Given the description of an element on the screen output the (x, y) to click on. 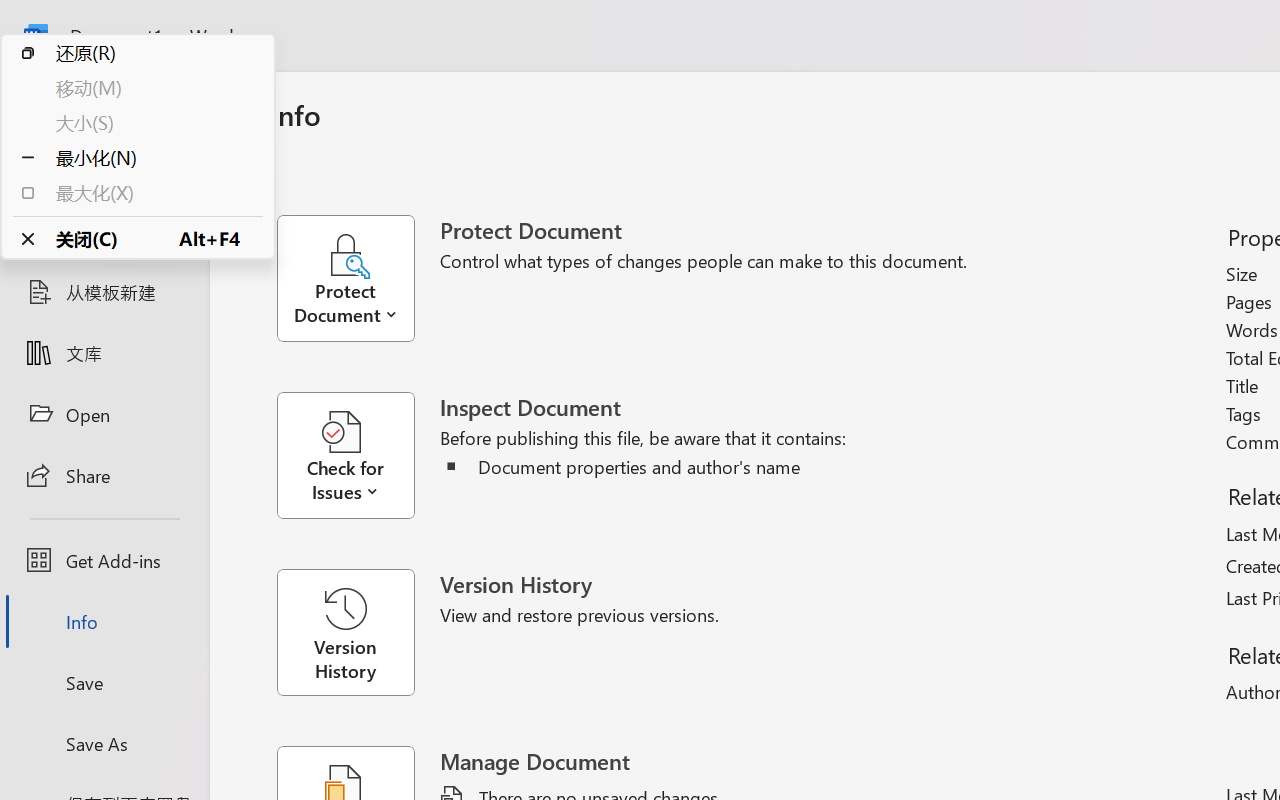
Info (104, 621)
Check for Issues (358, 455)
Back (104, 106)
Protect Document (358, 278)
New (104, 231)
Save As (104, 743)
